Given the description of an element on the screen output the (x, y) to click on. 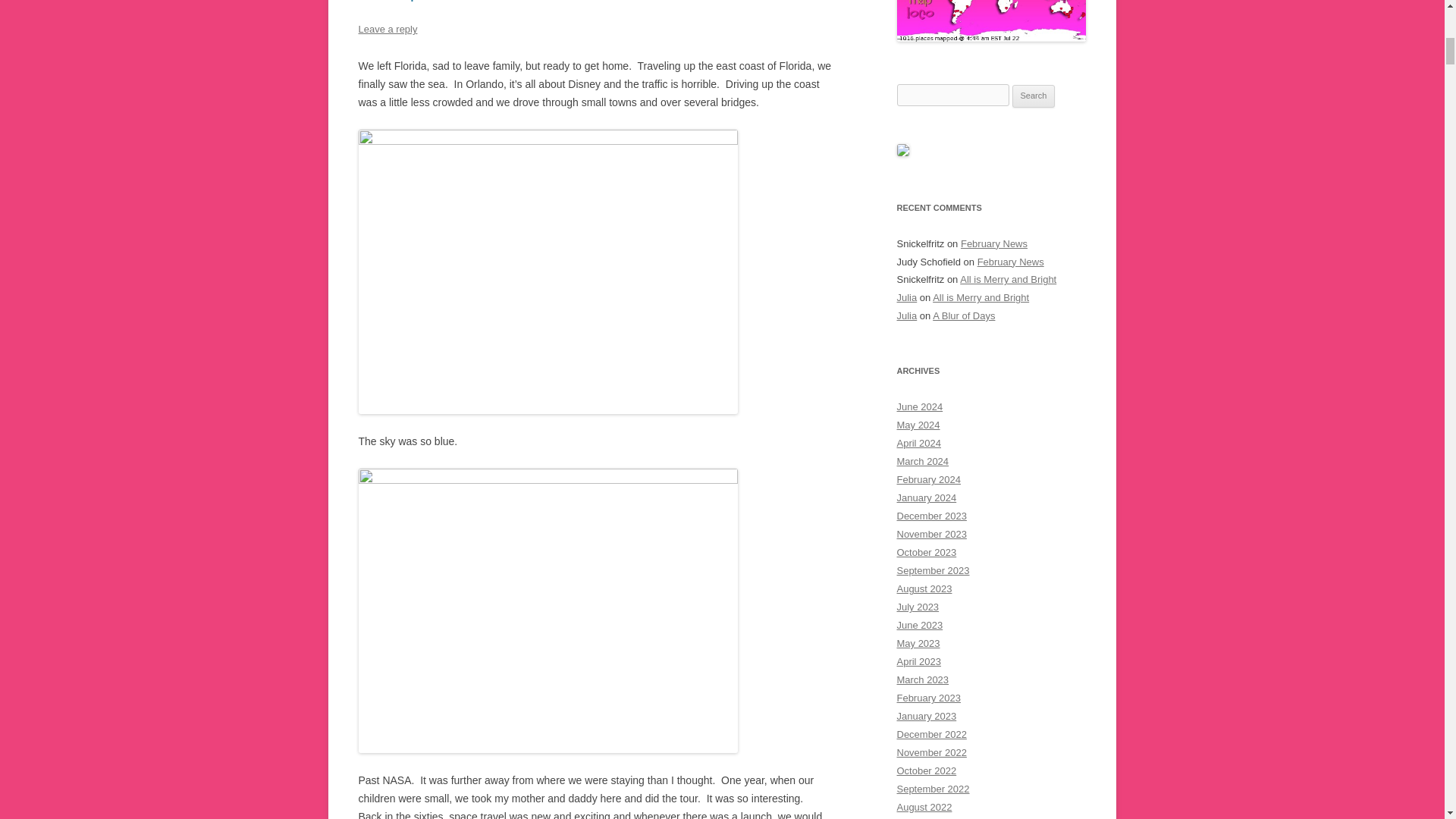
Locations of Site Visitors (991, 20)
The Trip Home (413, 0)
Leave a reply (387, 29)
Search (1033, 96)
